Given the description of an element on the screen output the (x, y) to click on. 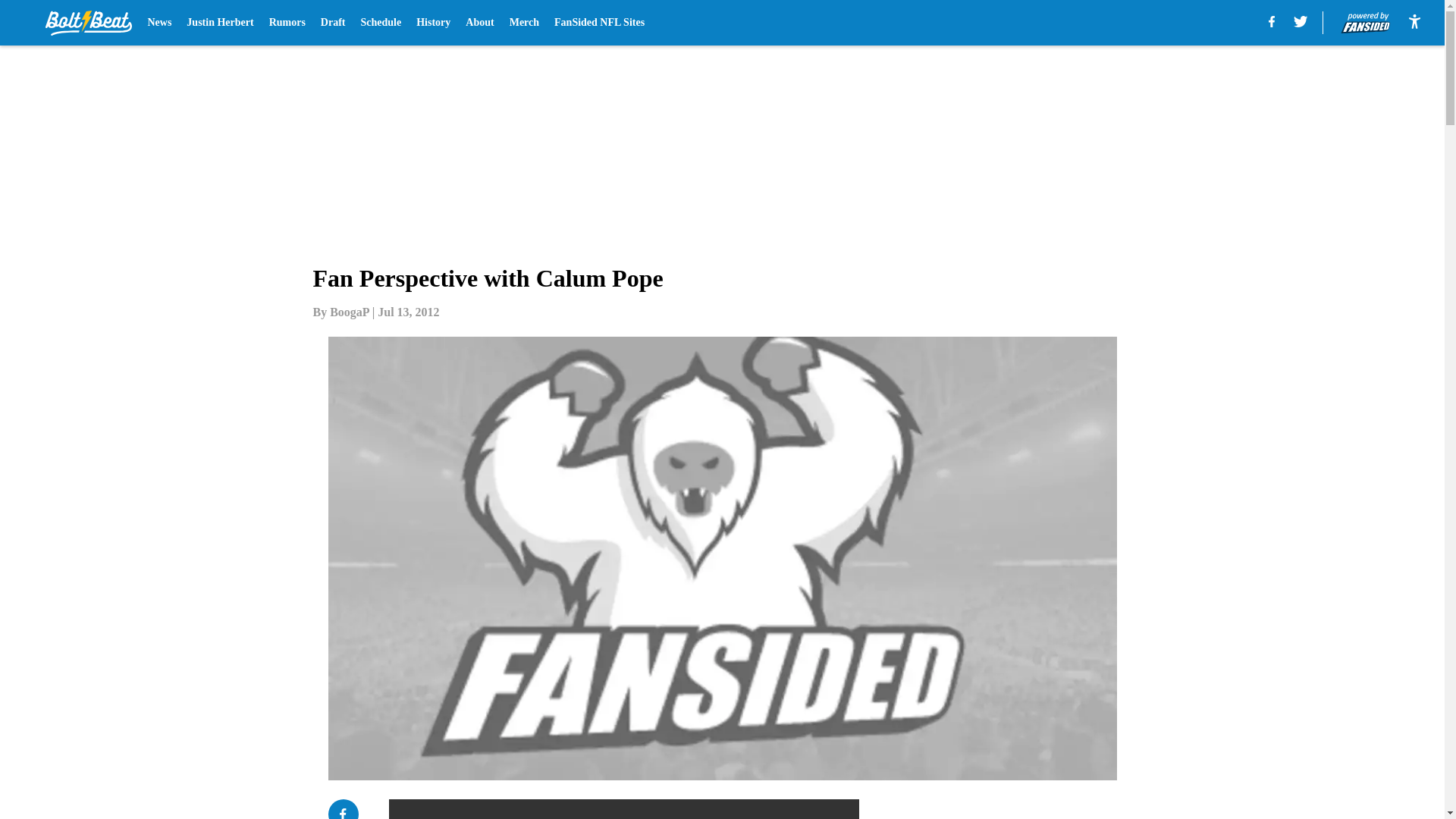
About (479, 22)
FanSided NFL Sites (599, 22)
3rd party ad content (1047, 809)
News (159, 22)
Schedule (381, 22)
Draft (333, 22)
Justin Herbert (219, 22)
History (432, 22)
Rumors (287, 22)
Merch (523, 22)
